Given the description of an element on the screen output the (x, y) to click on. 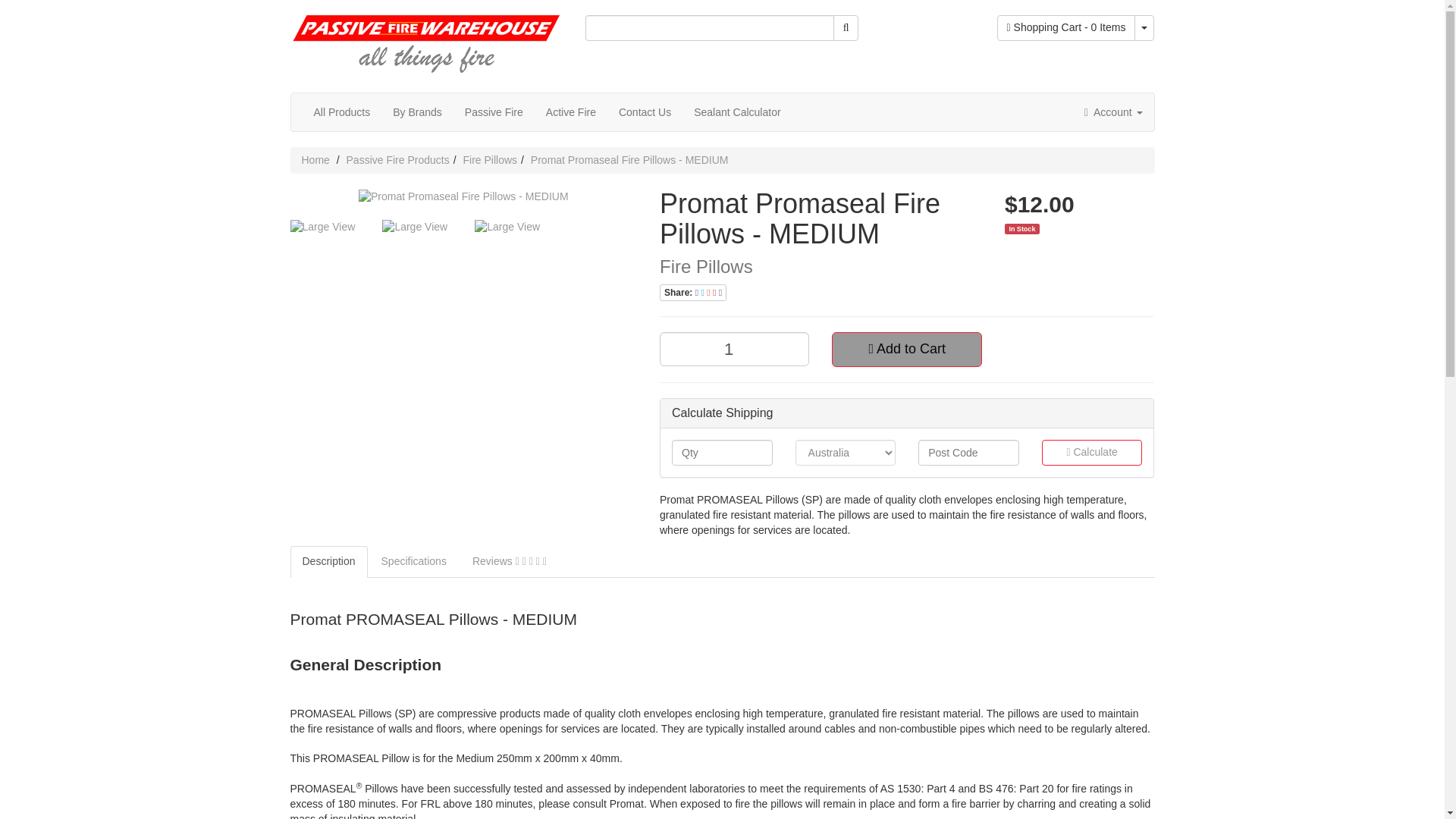
Calculate (1092, 452)
1 (734, 349)
Calculate (1092, 452)
Description (327, 562)
Shopping Cart - 0 Items (1066, 27)
Add to Cart (906, 349)
Passive Fire Products (397, 159)
Large View (416, 227)
Passive Fire (493, 111)
Passive fire warehouse (425, 37)
Share: (692, 292)
All Products (341, 111)
Reviews (509, 562)
Home (315, 159)
Active Fire (570, 111)
